Given the description of an element on the screen output the (x, y) to click on. 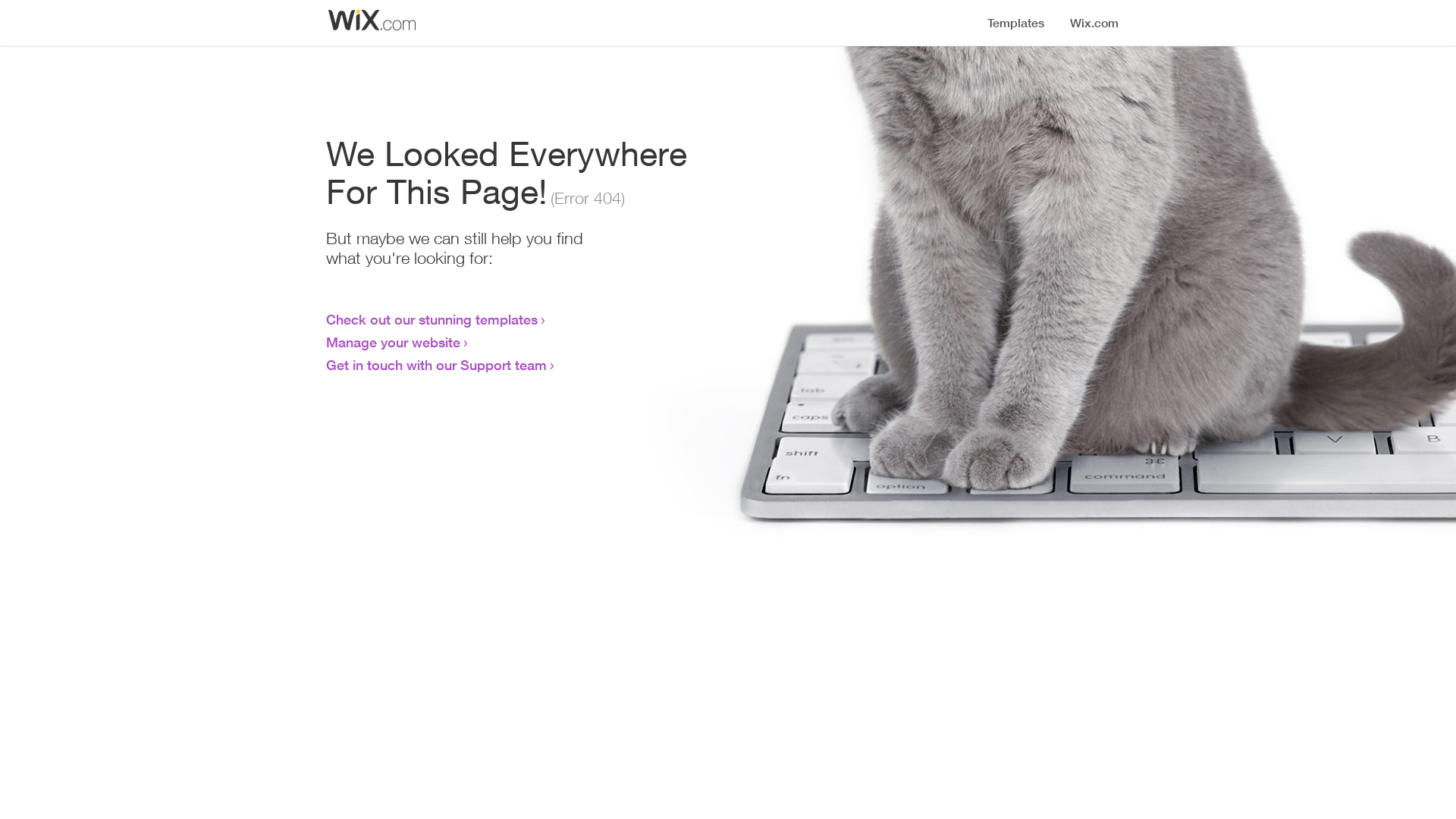
Manage your website Element type: text (393, 341)
Get in touch with our Support team Element type: text (436, 364)
Check out our stunning templates Element type: text (431, 318)
